Given the description of an element on the screen output the (x, y) to click on. 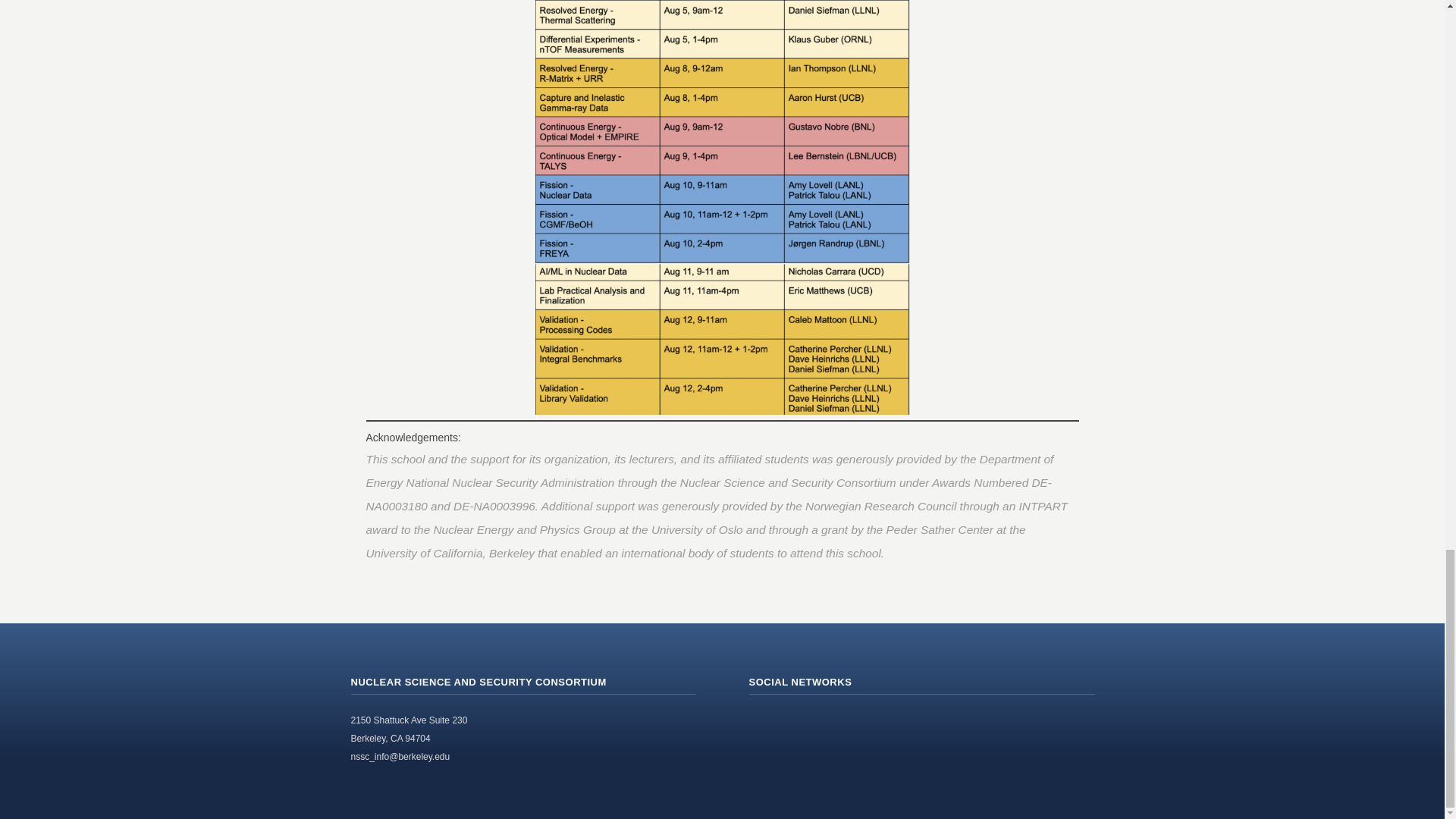
LinkedIn (860, 723)
Twitter (794, 723)
RSS Feed (761, 723)
YouTube (827, 723)
